Given the description of an element on the screen output the (x, y) to click on. 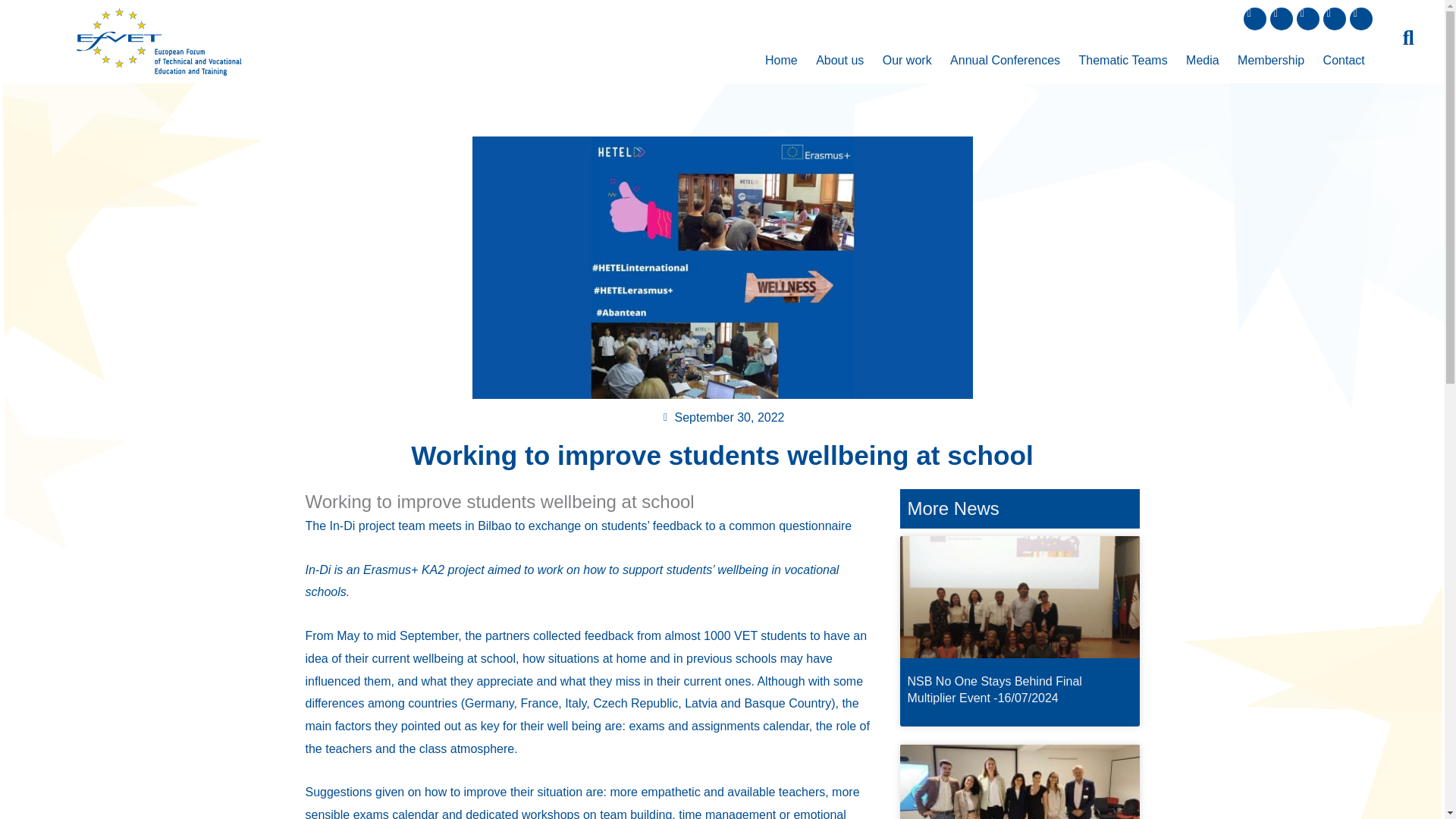
Instagram (1334, 18)
Youtube (1361, 18)
Facebook-f (1254, 18)
About us (839, 60)
Linkedin (1308, 18)
Our work (907, 60)
X-twitter (1280, 18)
Home (781, 60)
